Given the description of an element on the screen output the (x, y) to click on. 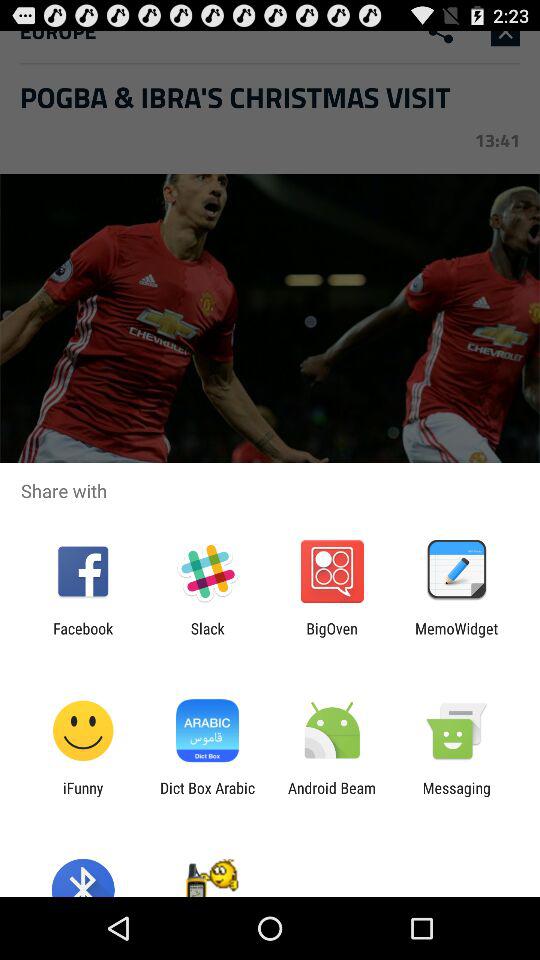
turn on item next to ifunny item (207, 796)
